Given the description of an element on the screen output the (x, y) to click on. 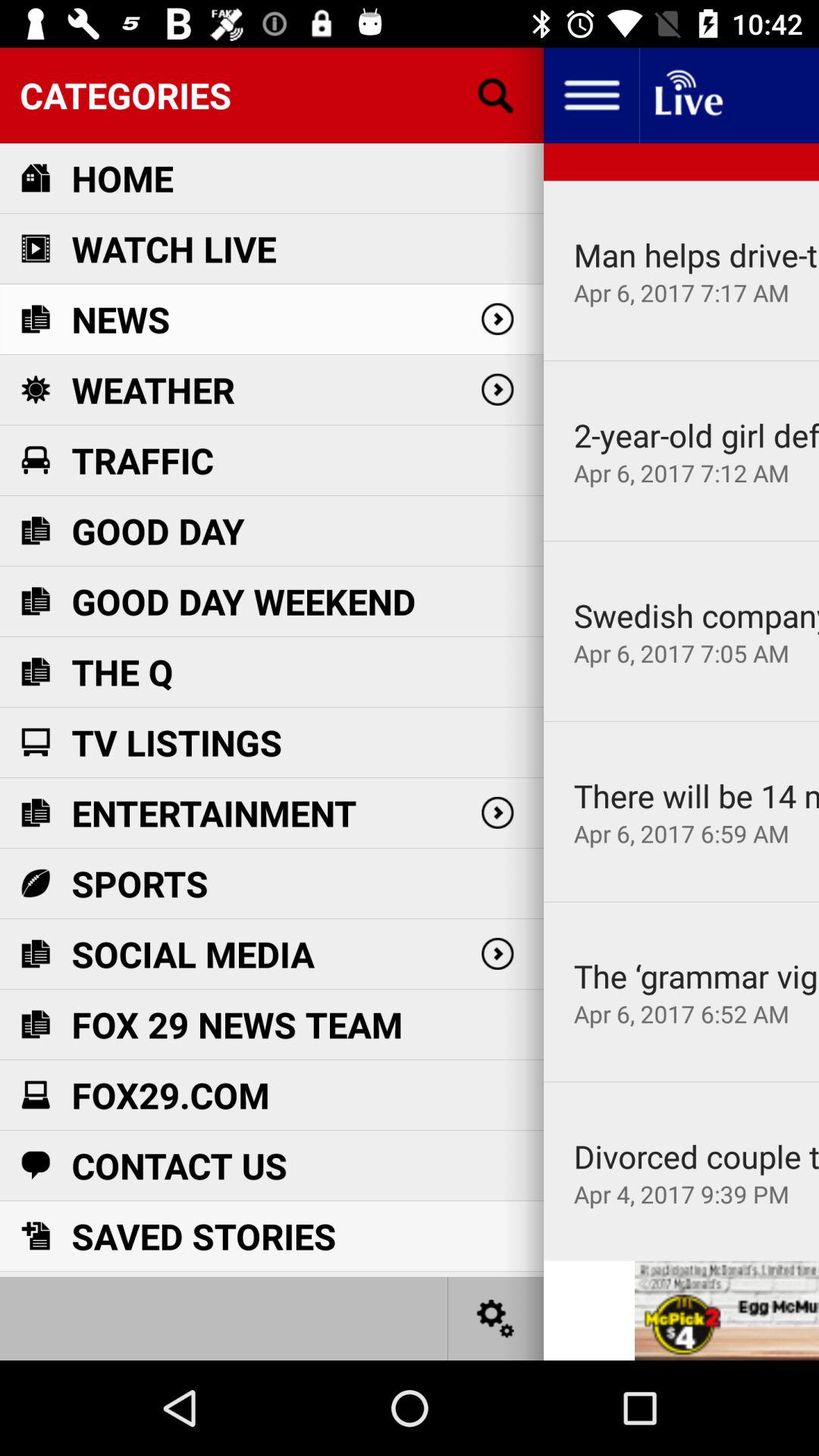
settings (495, 1318)
